Given the description of an element on the screen output the (x, y) to click on. 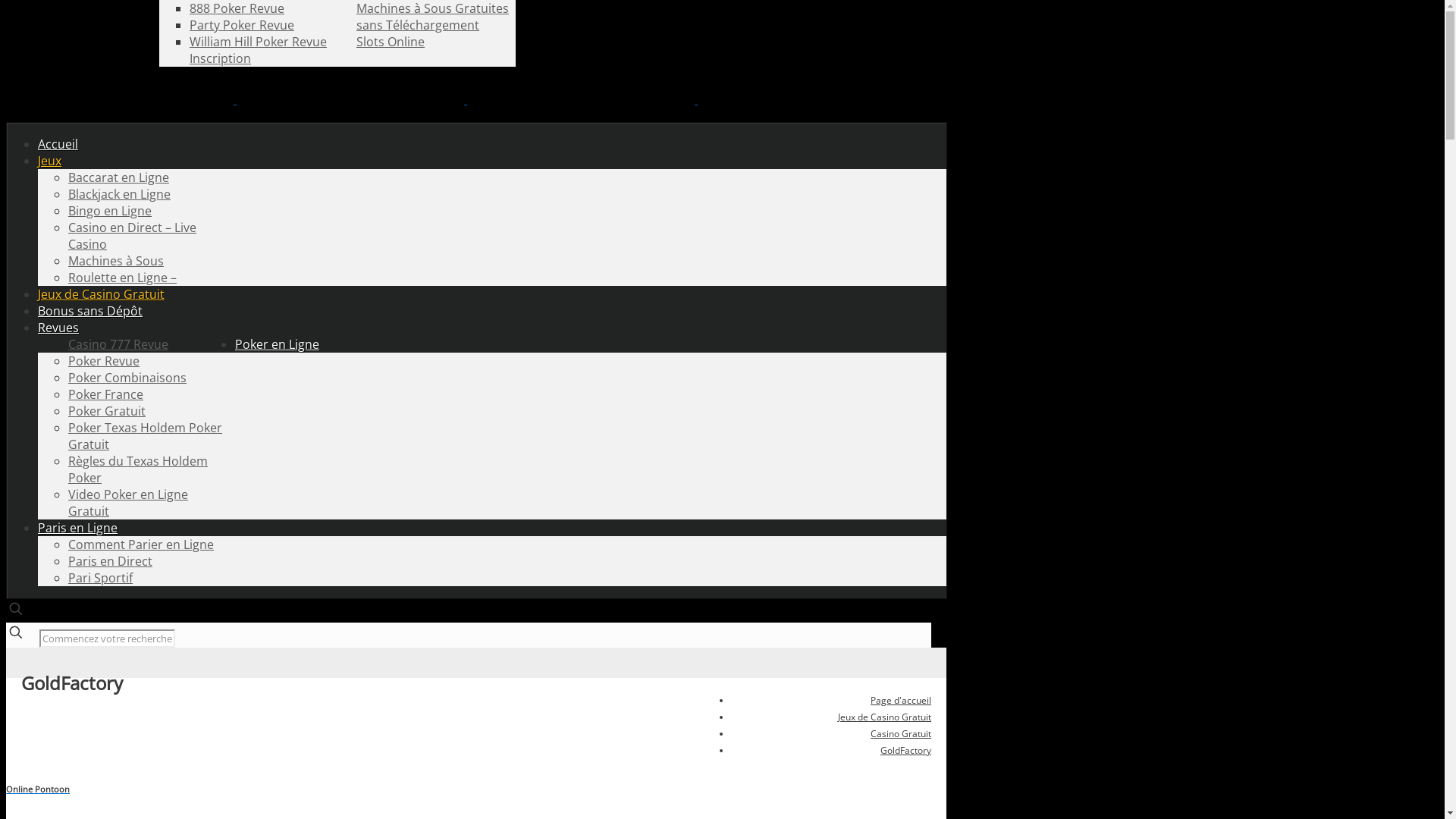
Blackjack en Ligne Element type: text (119, 193)
Baccarat en Ligne Element type: text (118, 177)
Poker Gratuit Element type: text (106, 410)
Poker Revue Element type: text (103, 360)
Roulette Gratuite Element type: text (238, 8)
Party Poker Revue Element type: text (241, 24)
Casino en Ligne Suisse Element type: hover (465, 99)
Jeux de Casino Gratuit Element type: text (884, 716)
Casino 777 Revue Element type: text (118, 343)
Blackjack Gratuit Element type: text (237, 8)
Accueil Element type: text (57, 143)
Poker Texas Holdem Poker Gratuit Element type: text (145, 435)
Page d'accueil Element type: text (900, 699)
Poker en Ligne Element type: text (277, 344)
Casino Gratuit Element type: text (900, 733)
Poker France Element type: text (105, 393)
Jeux Element type: text (49, 160)
Paris en Ligne Element type: text (77, 527)
Revues Element type: text (57, 327)
Comment Parier en Ligne Element type: text (140, 544)
GoldFactory Element type: text (905, 749)
Video Poker en Ligne Gratuit Element type: text (128, 502)
Pari Sportif Element type: text (100, 577)
Slots Online Element type: text (390, 41)
888 Poker Revue Element type: text (236, 8)
Paris en Direct Element type: text (110, 560)
Poker Combinaisons Element type: text (127, 377)
Jeux de Casino Gratuit Element type: text (100, 293)
William Hill Poker Revue Element type: text (257, 41)
Bingo en Ligne Element type: text (109, 210)
